Given the description of an element on the screen output the (x, y) to click on. 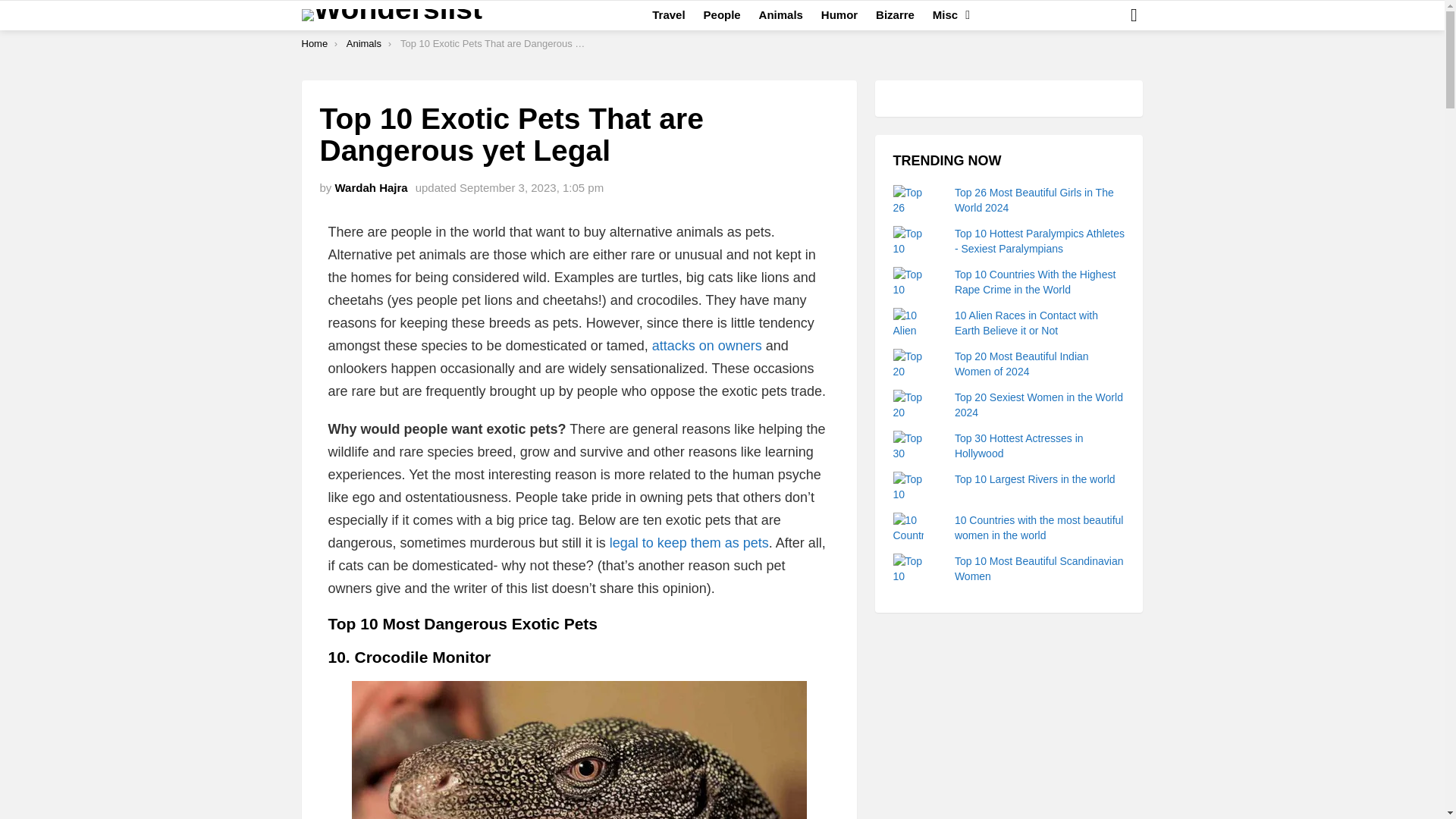
Animals (780, 15)
Crocodile Monitor (579, 749)
Wardah Hajra (370, 187)
Travel (669, 15)
Humor (838, 15)
People (721, 15)
Posts by Wardah Hajra (370, 187)
Misc (946, 15)
Animals (363, 43)
Bizarre (894, 15)
